Given the description of an element on the screen output the (x, y) to click on. 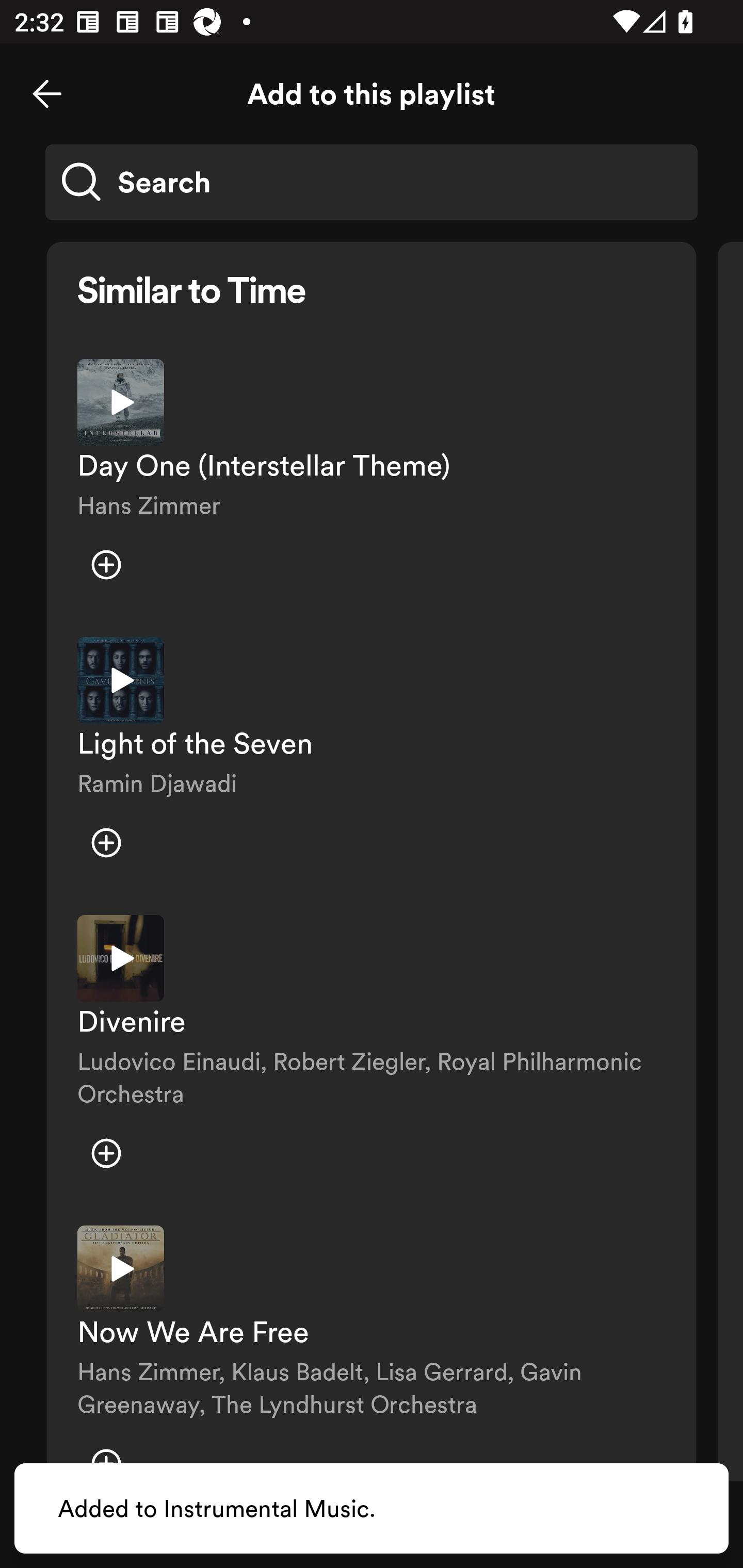
Close (46, 93)
Search (371, 181)
Play preview (120, 402)
Add item (106, 565)
Play preview (120, 680)
Add item (106, 842)
Play preview (120, 958)
Add item (106, 1153)
Play preview (120, 1269)
